Given the description of an element on the screen output the (x, y) to click on. 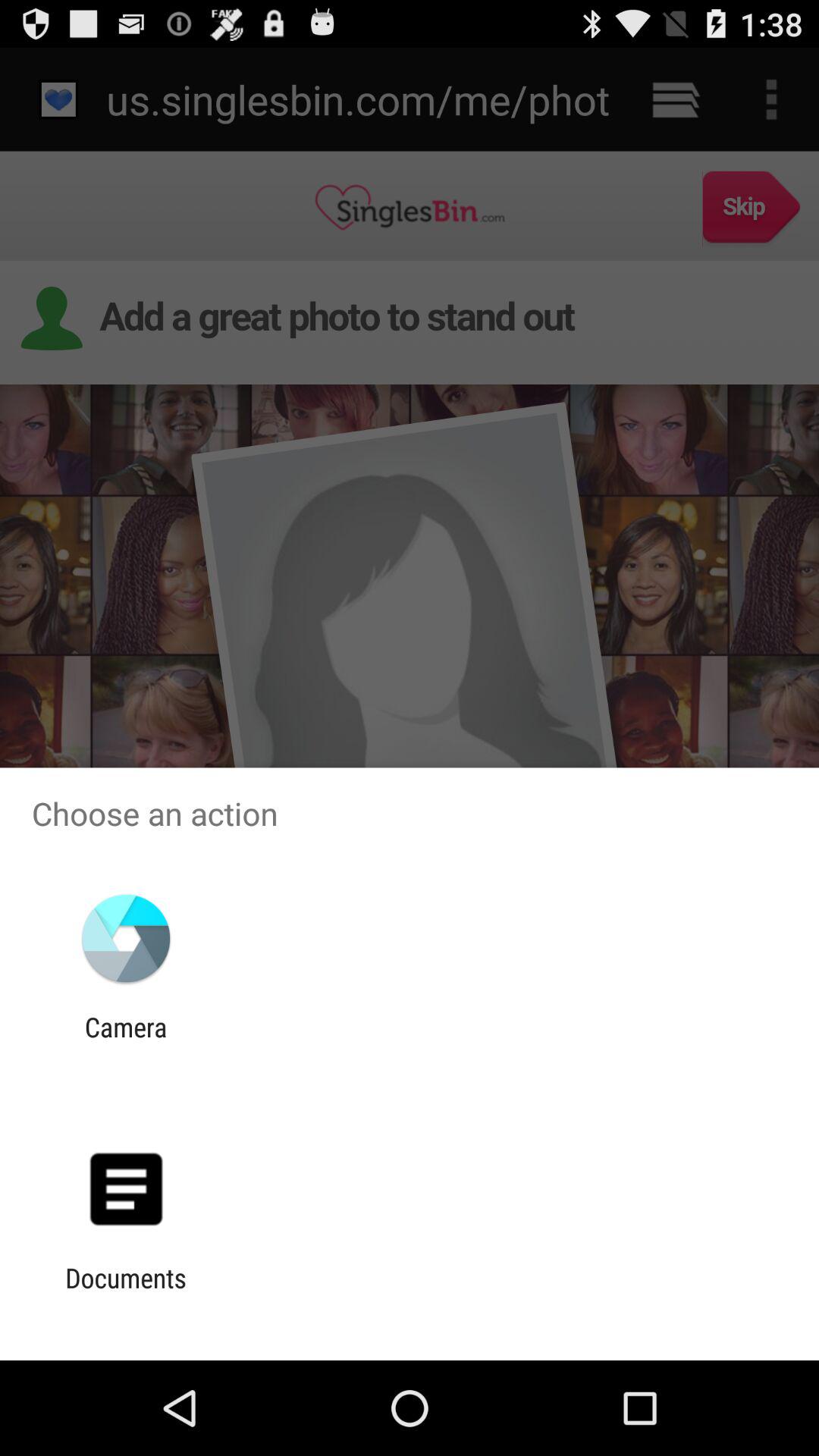
choose the documents (125, 1293)
